Given the description of an element on the screen output the (x, y) to click on. 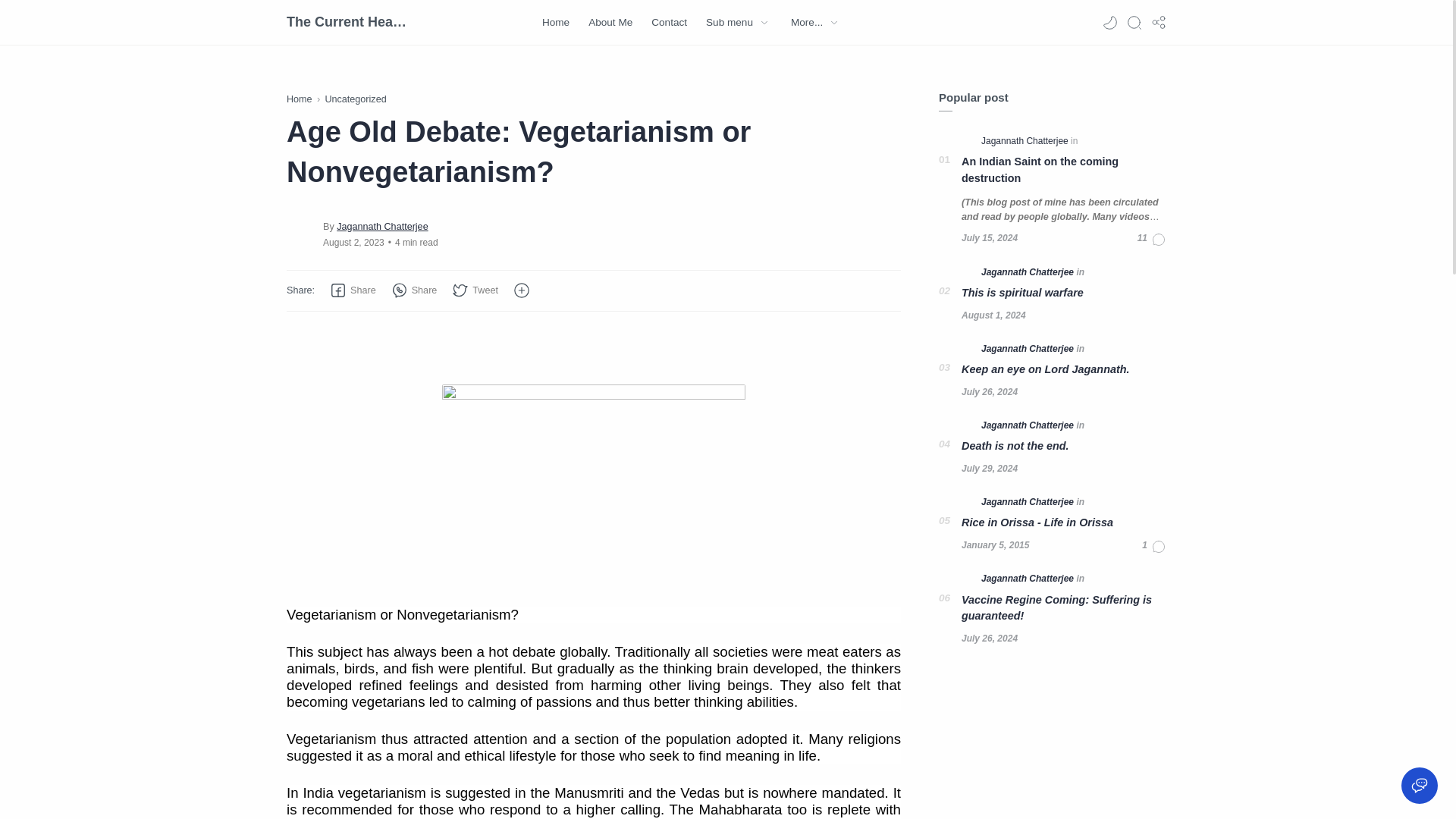
Published: July 29, 2024 (988, 468)
Share to Facebook (352, 290)
Published: August 2, 2023 (353, 242)
Last updated: July 15, 2024 (988, 237)
Last updated: August 1, 2024 (993, 314)
Last updated: January 5, 2015 (994, 544)
Published: July 26, 2024 (988, 391)
The Current Health Scenario (346, 22)
Share to Twitter (474, 290)
About Me (609, 22)
Share to Whatsapp (414, 290)
Published: July 26, 2024 (988, 638)
Home (299, 99)
